Given the description of an element on the screen output the (x, y) to click on. 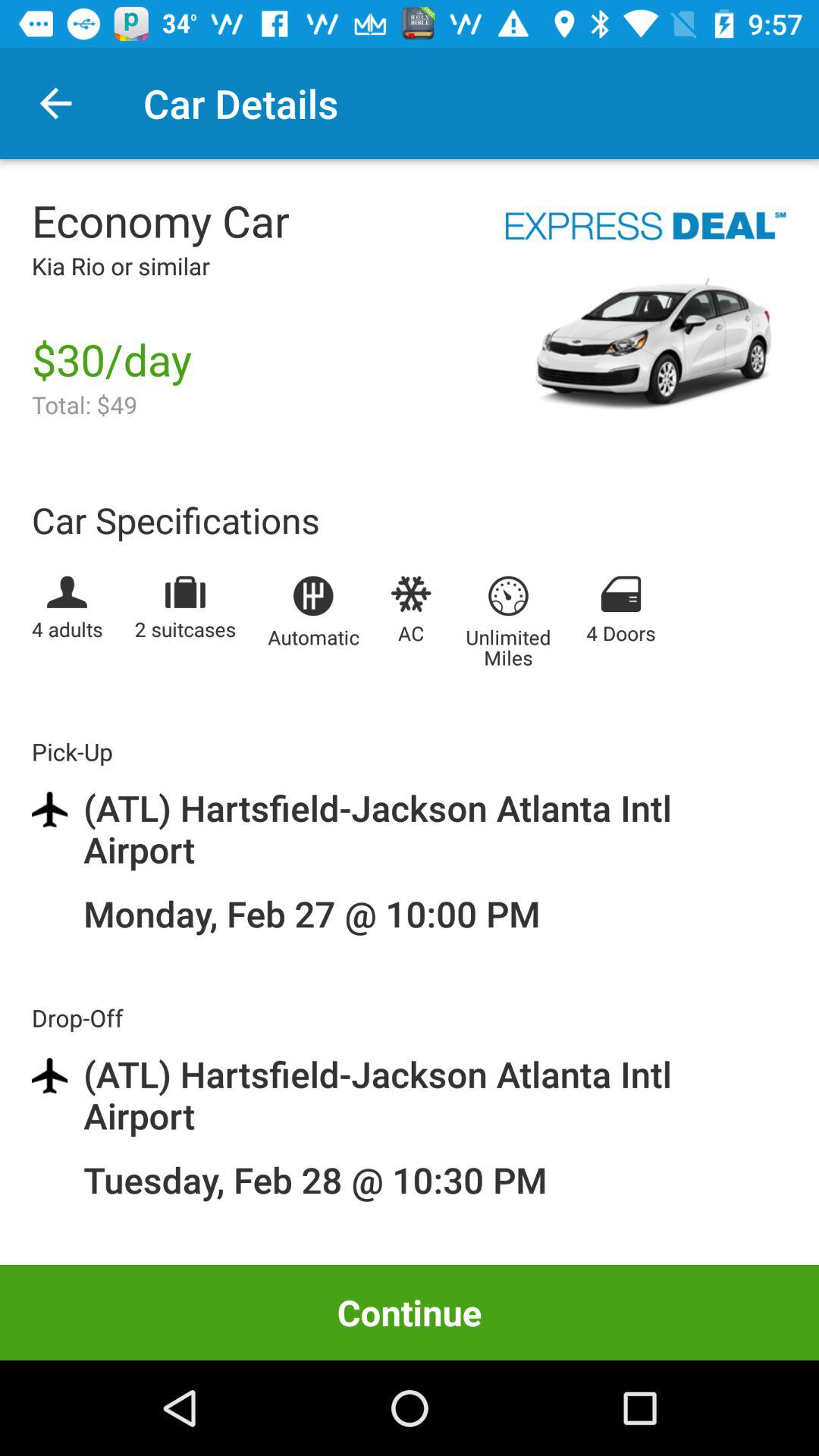
choose the item to the left of the car details icon (55, 103)
